Given the description of an element on the screen output the (x, y) to click on. 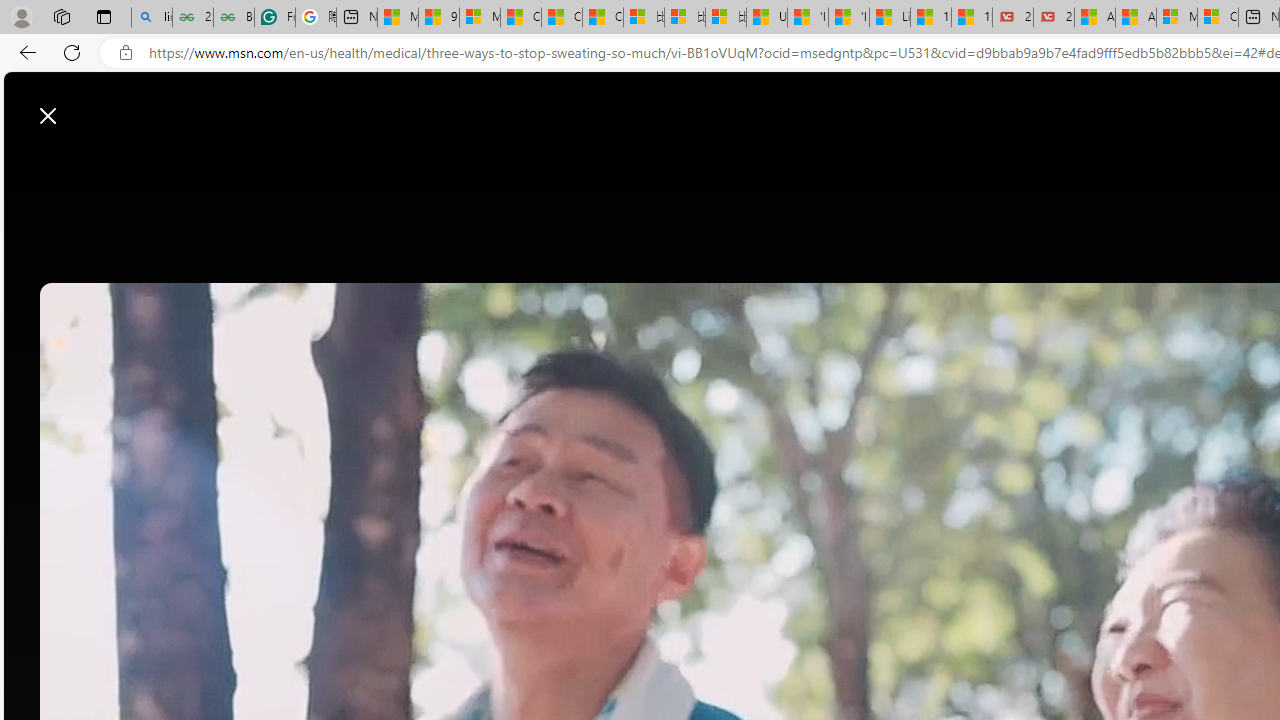
USA TODAY - MSN (767, 17)
